Given the description of an element on the screen output the (x, y) to click on. 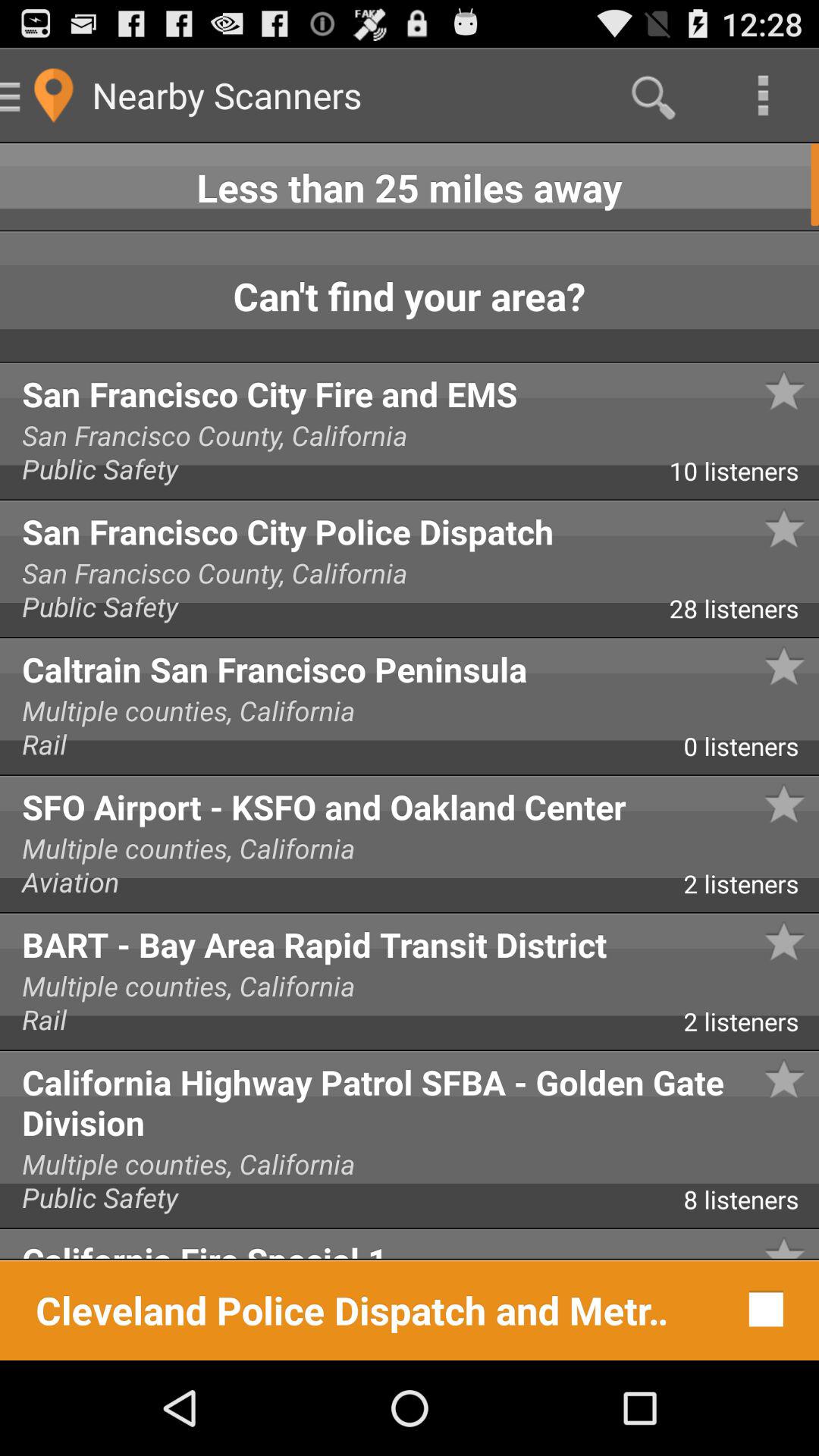
scroll to california fire special app (409, 1243)
